Given the description of an element on the screen output the (x, y) to click on. 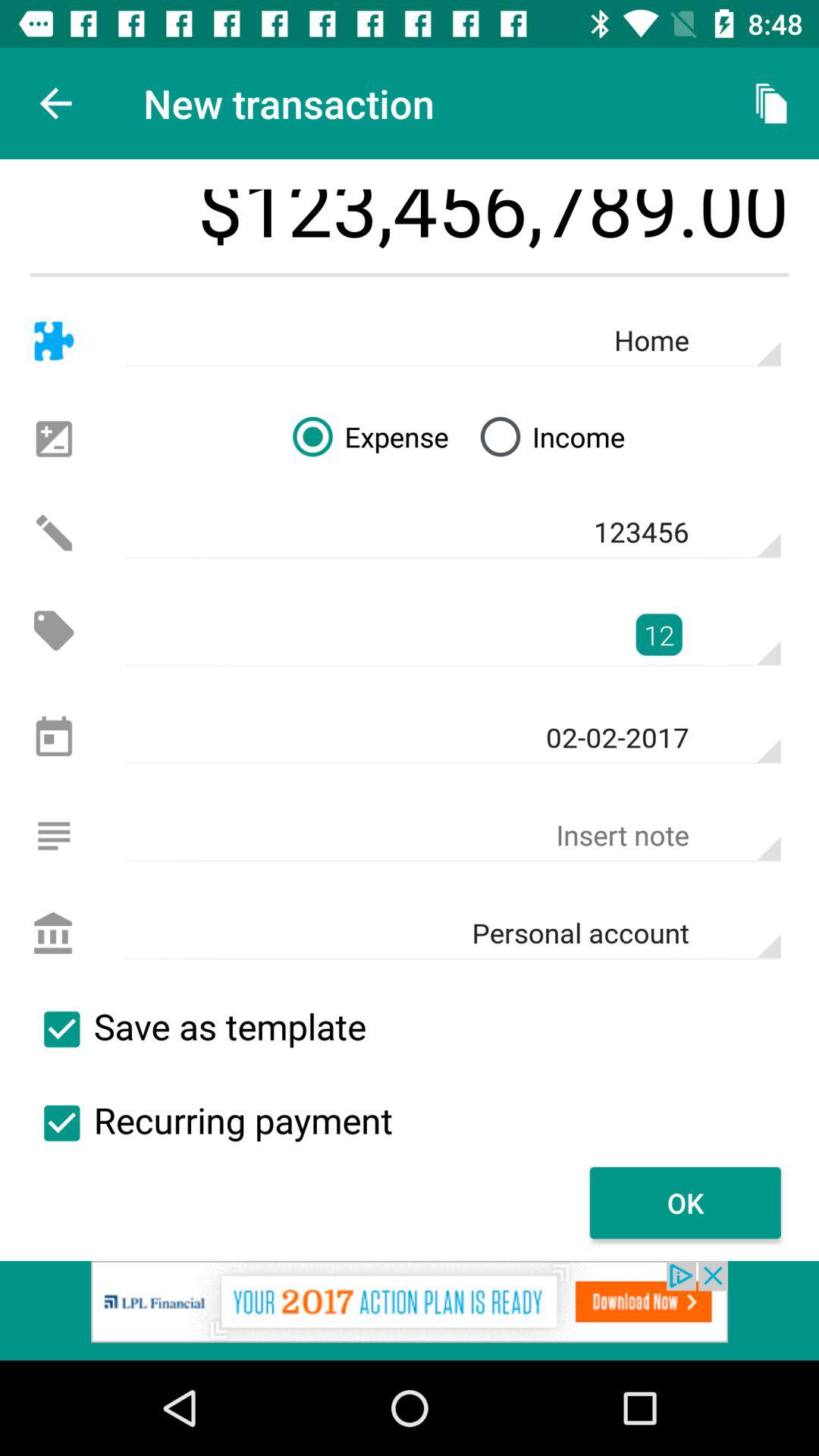
open an advertisement (409, 1310)
